Given the description of an element on the screen output the (x, y) to click on. 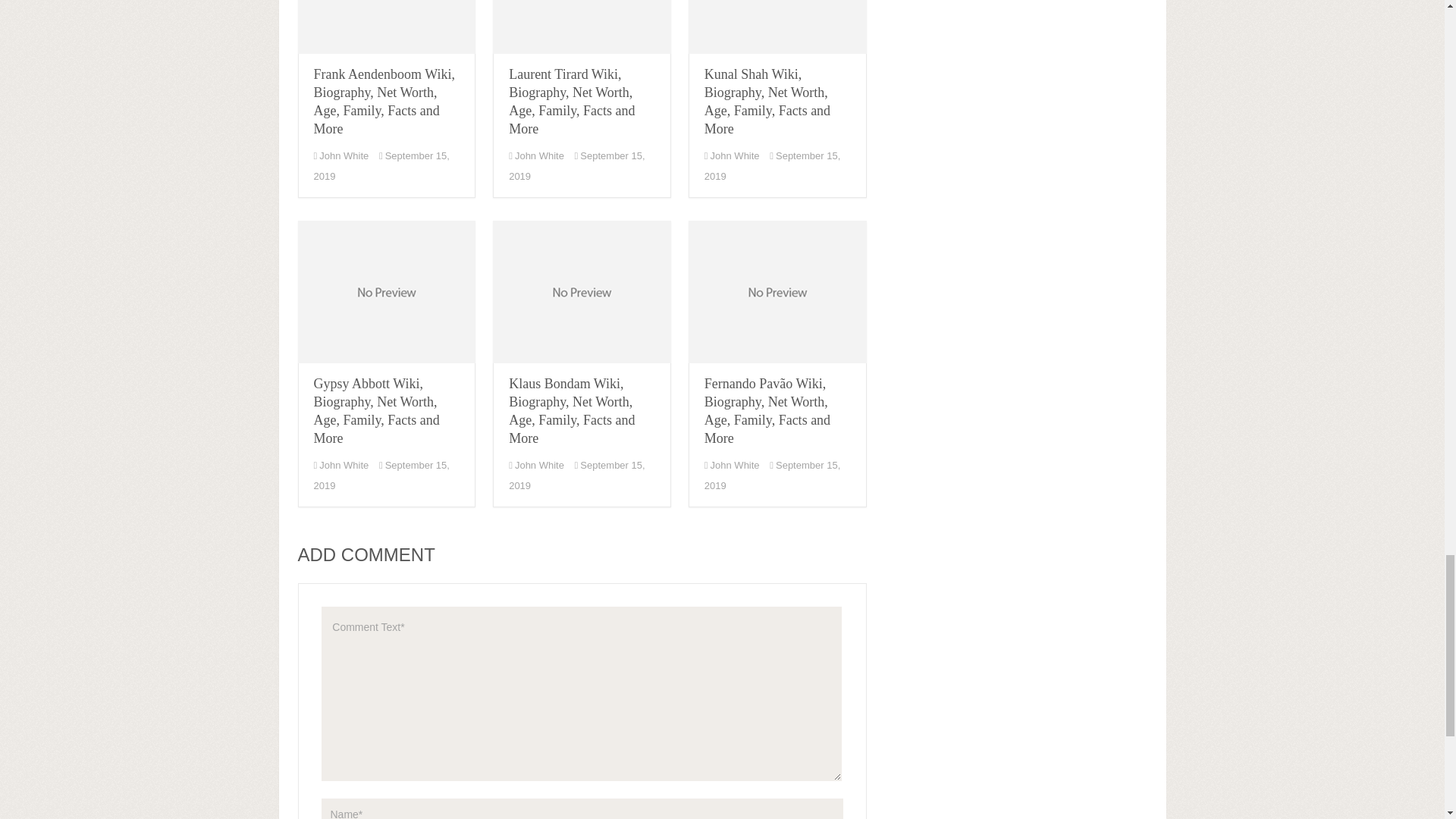
John White (343, 155)
Posts by John White (735, 155)
Posts by John White (343, 155)
Posts by John White (539, 155)
Posts by John White (343, 464)
